Given the description of an element on the screen output the (x, y) to click on. 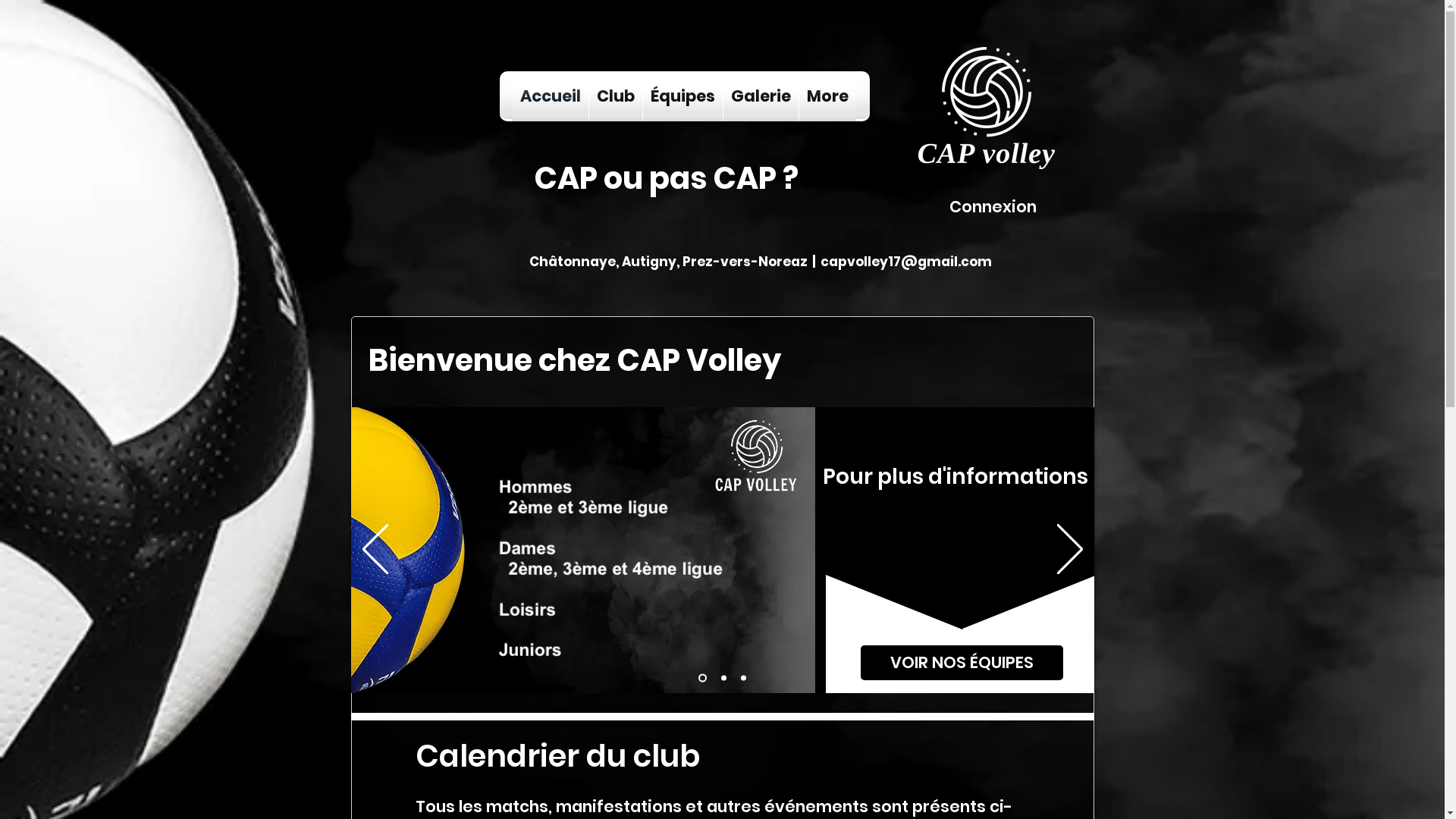
Club Element type: text (615, 96)
Galerie Element type: text (760, 96)
Connexion Element type: text (992, 206)
Accueil Element type: text (550, 96)
capvolley17@gmail.com Element type: text (905, 261)
